Given the description of an element on the screen output the (x, y) to click on. 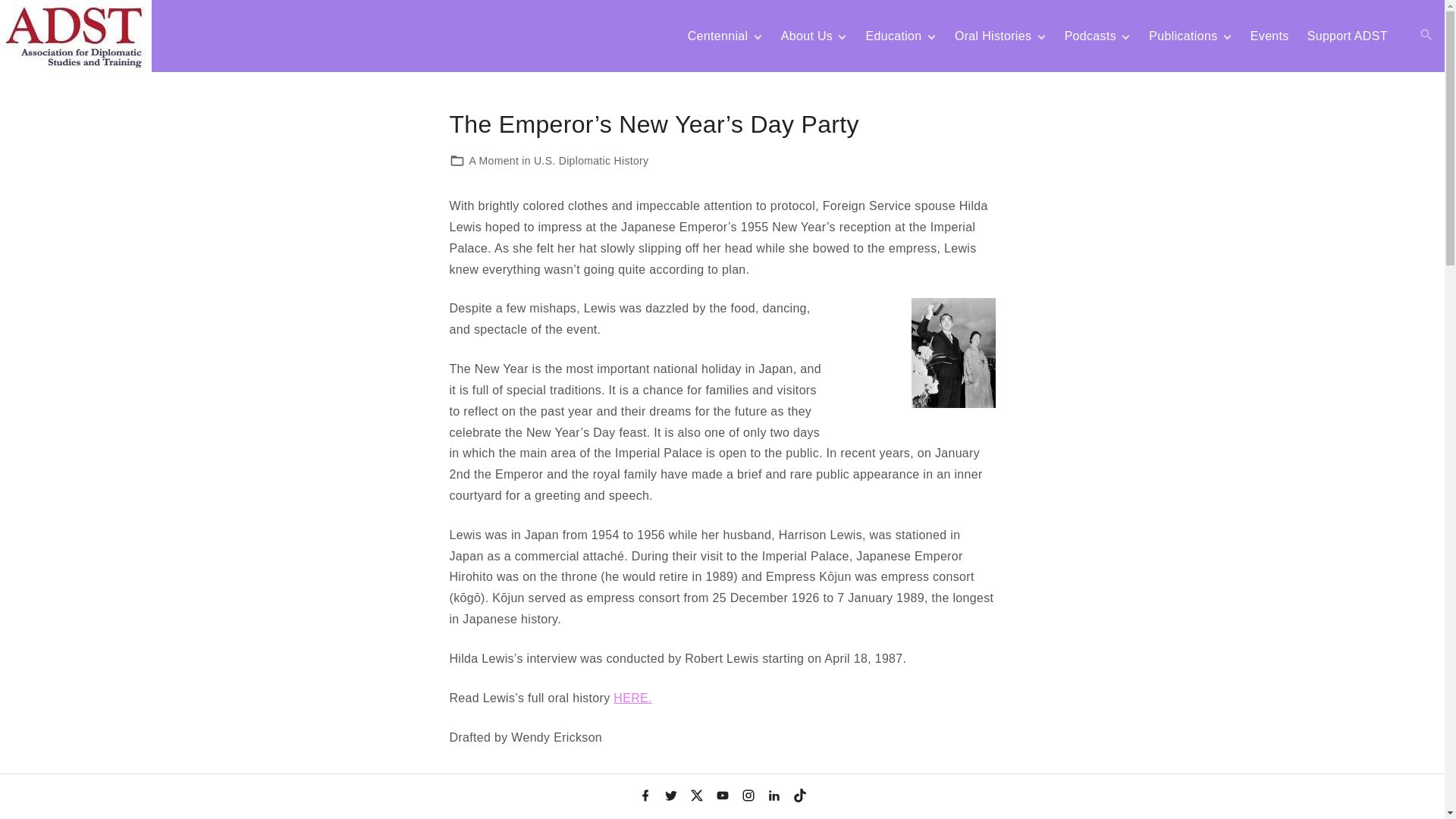
Podcasts (1091, 36)
Centennial (718, 36)
Publications (1183, 36)
About Us (807, 36)
Oral Histories (993, 36)
Education (893, 36)
